Given the description of an element on the screen output the (x, y) to click on. 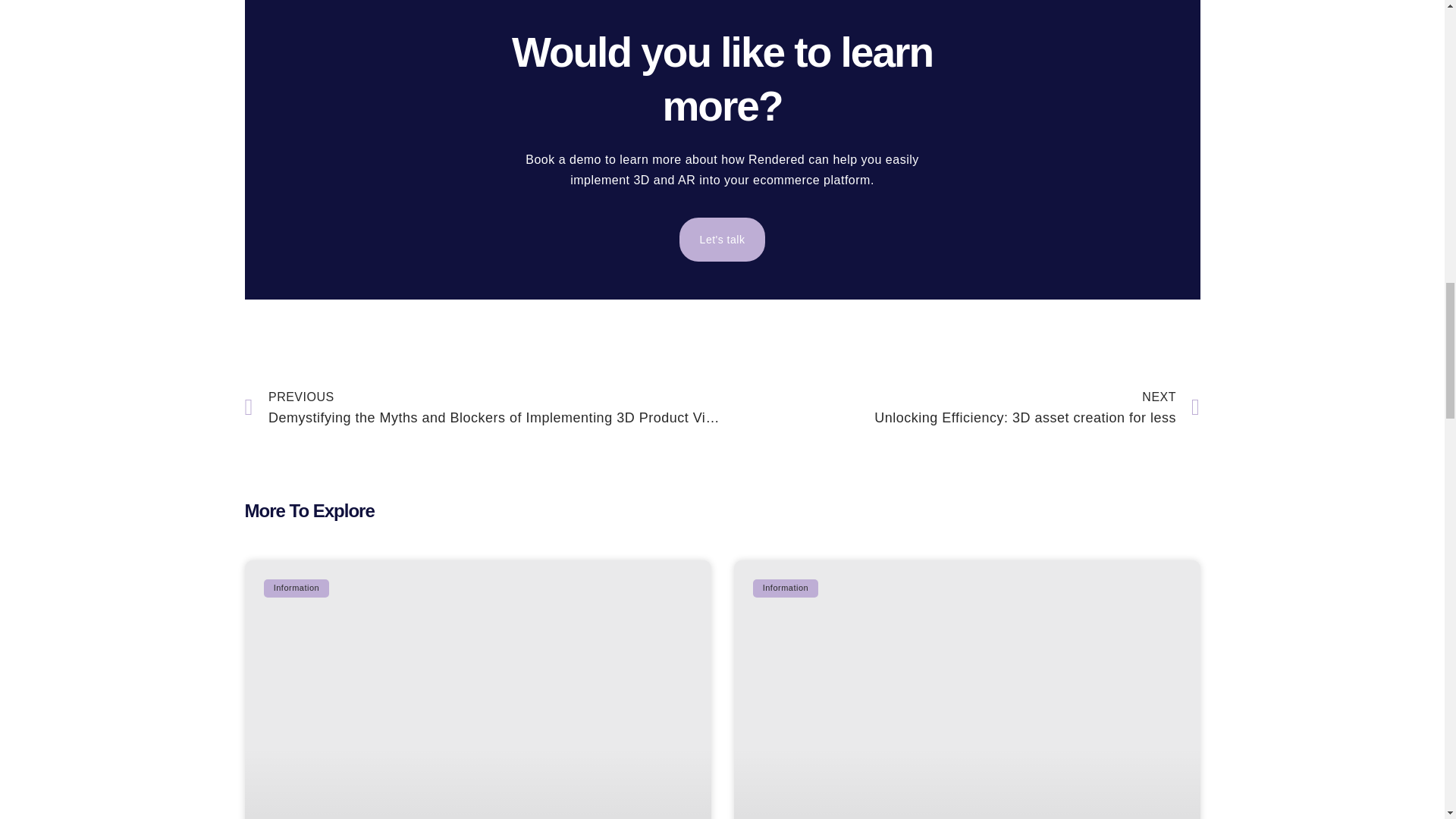
Let's talk (960, 406)
